Given the description of an element on the screen output the (x, y) to click on. 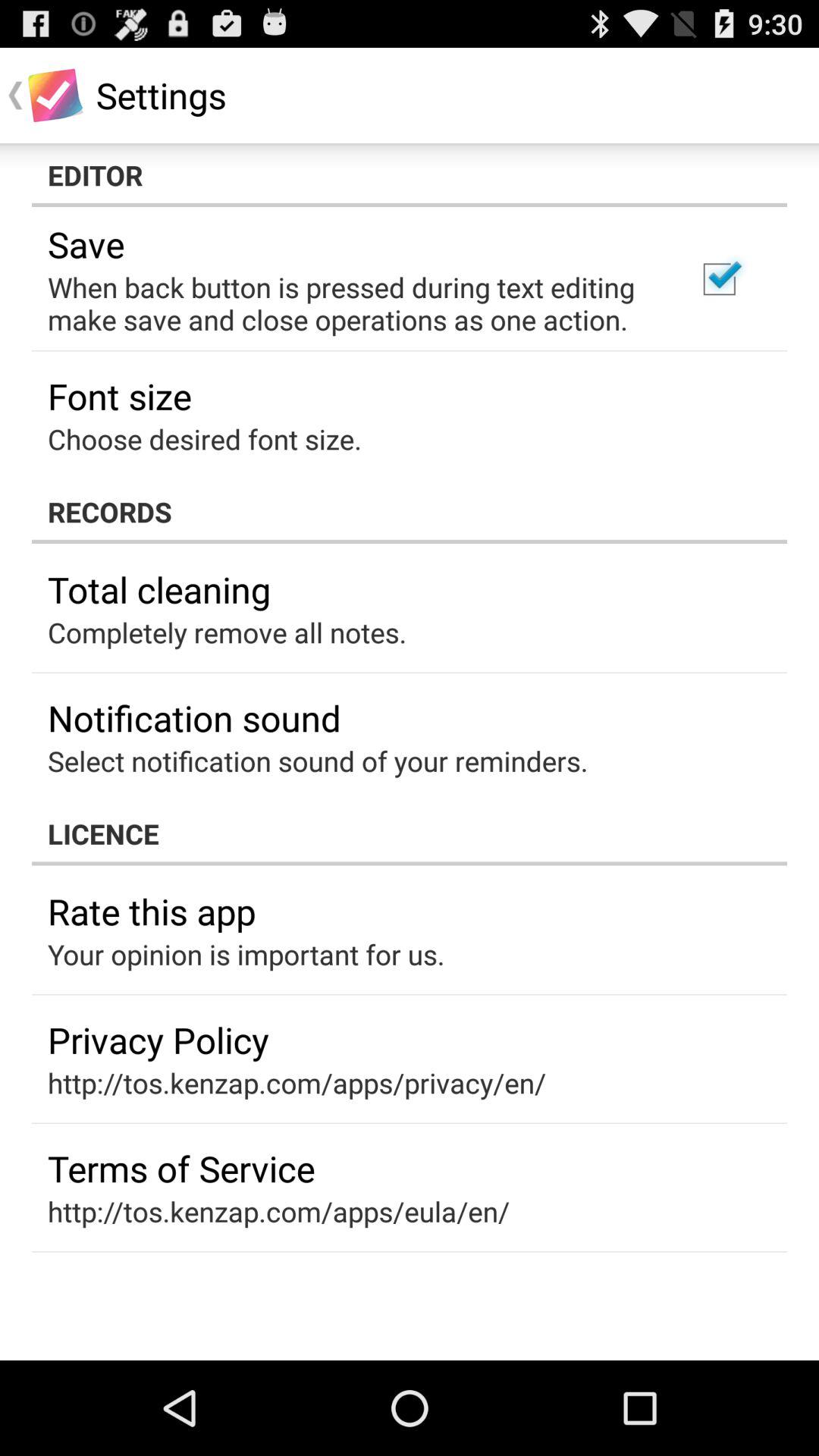
launch the item above records app (204, 438)
